Given the description of an element on the screen output the (x, y) to click on. 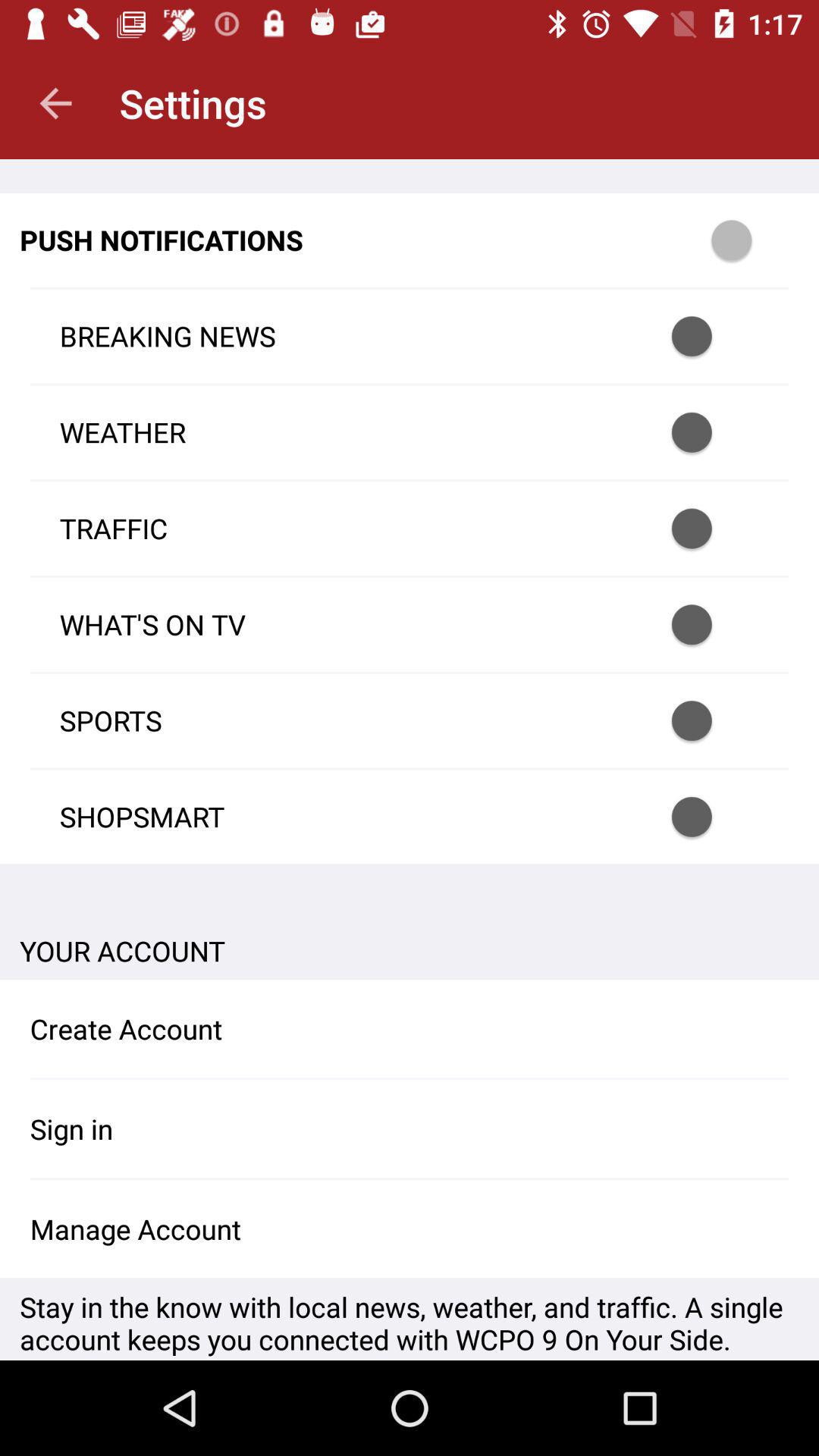
select/unselect notification (711, 336)
